Given the description of an element on the screen output the (x, y) to click on. 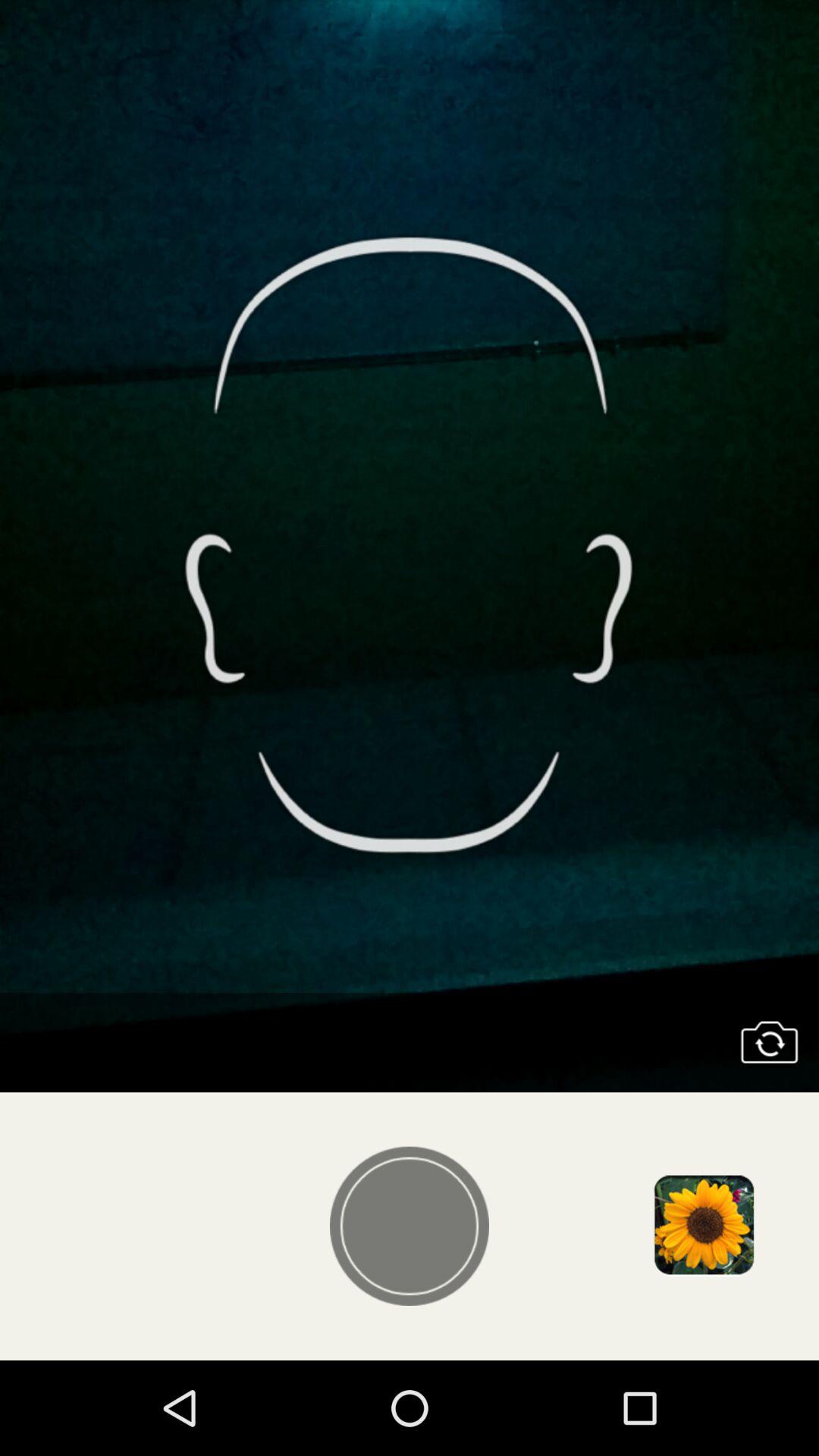
go to camera (769, 1042)
